Given the description of an element on the screen output the (x, y) to click on. 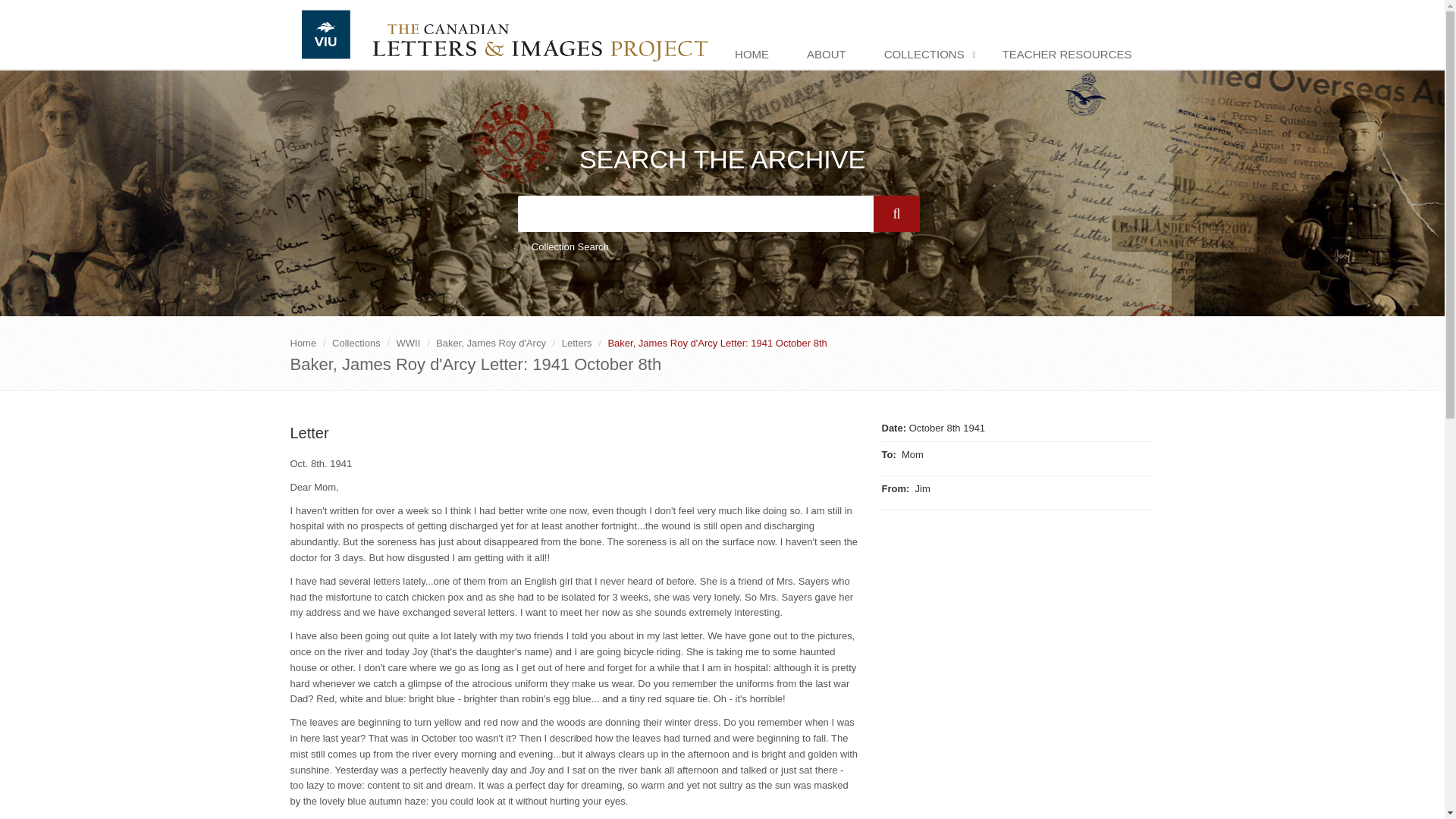
Letters (577, 342)
HOME (755, 55)
ABOUT (830, 55)
Baker, James Roy d'Arcy (490, 342)
WWII (408, 342)
Home (302, 342)
Enter the terms you wish to search for. (694, 213)
TEACHER RESOURCES (1070, 55)
COLLECTIONS (928, 55)
Collections (355, 342)
Collection Search (566, 247)
